Given the description of an element on the screen output the (x, y) to click on. 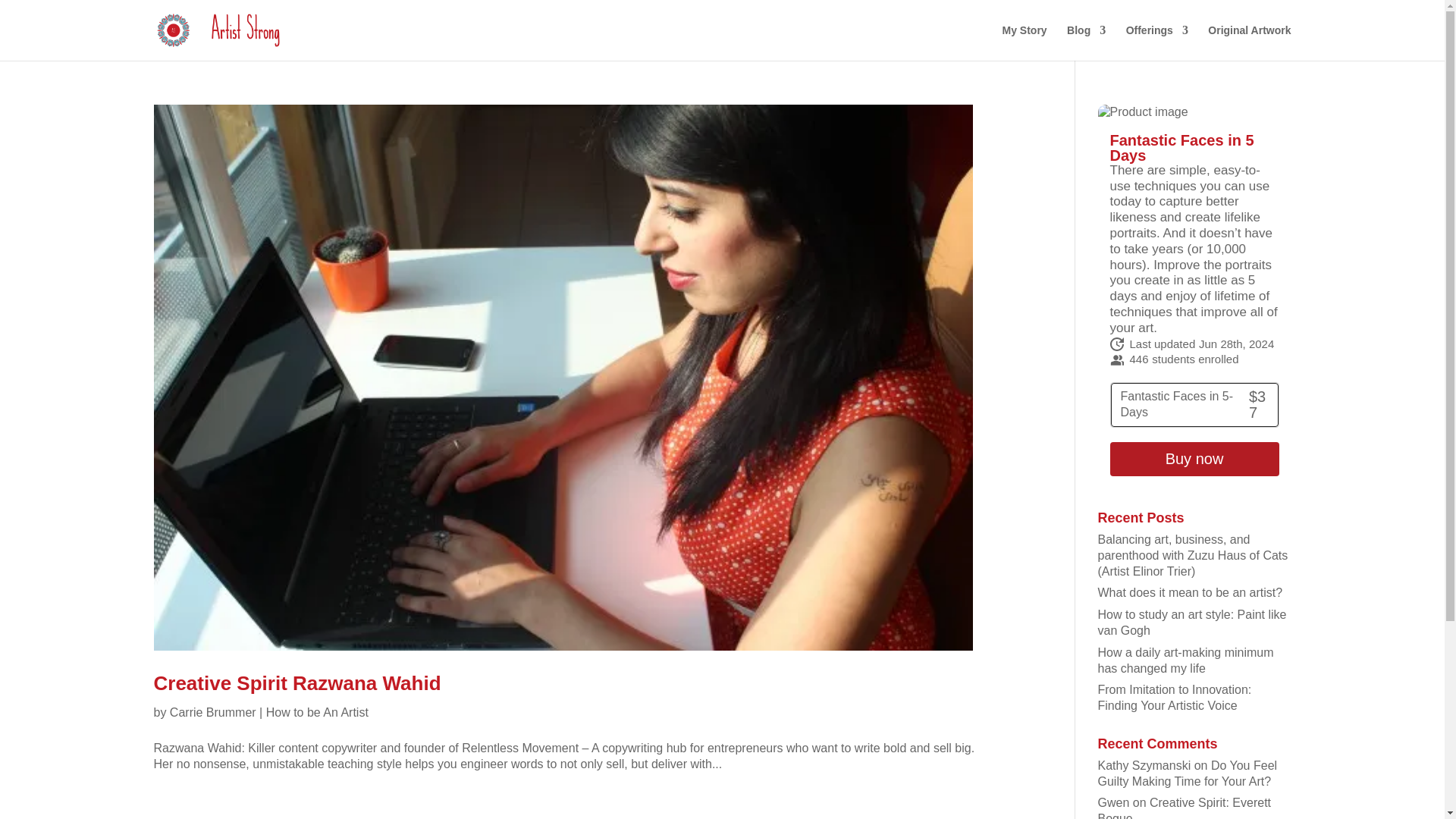
Offerings (1156, 42)
From Imitation to Innovation: Finding Your Artistic Voice (1174, 697)
Creative Spirit: Everett Bogue (1184, 807)
Creative Spirit Razwana Wahid (296, 682)
Posts by Carrie Brummer (213, 712)
Carrie Brummer (213, 712)
Blog (1086, 42)
Do You Feel Guilty Making Time for Your Art? (1187, 773)
Gwen (1113, 802)
What does it mean to be an artist? (1189, 592)
How to be An Artist (317, 712)
Buy now (1194, 458)
How a daily art-making minimum has changed my life (1185, 660)
My Story (1024, 42)
How to study an art style: Paint like van Gogh (1192, 622)
